Given the description of an element on the screen output the (x, y) to click on. 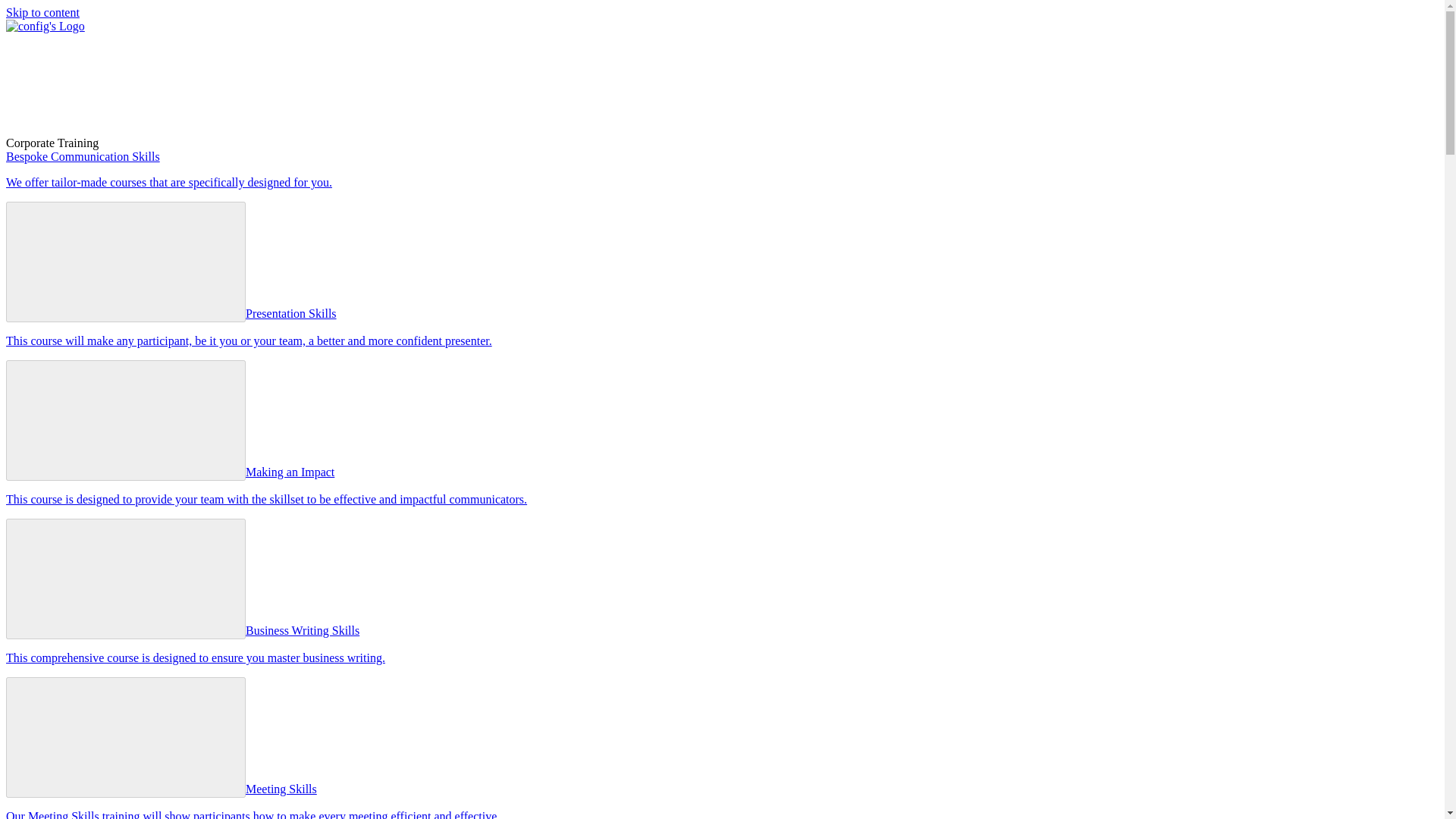
Skip to content (42, 11)
